Given the description of an element on the screen output the (x, y) to click on. 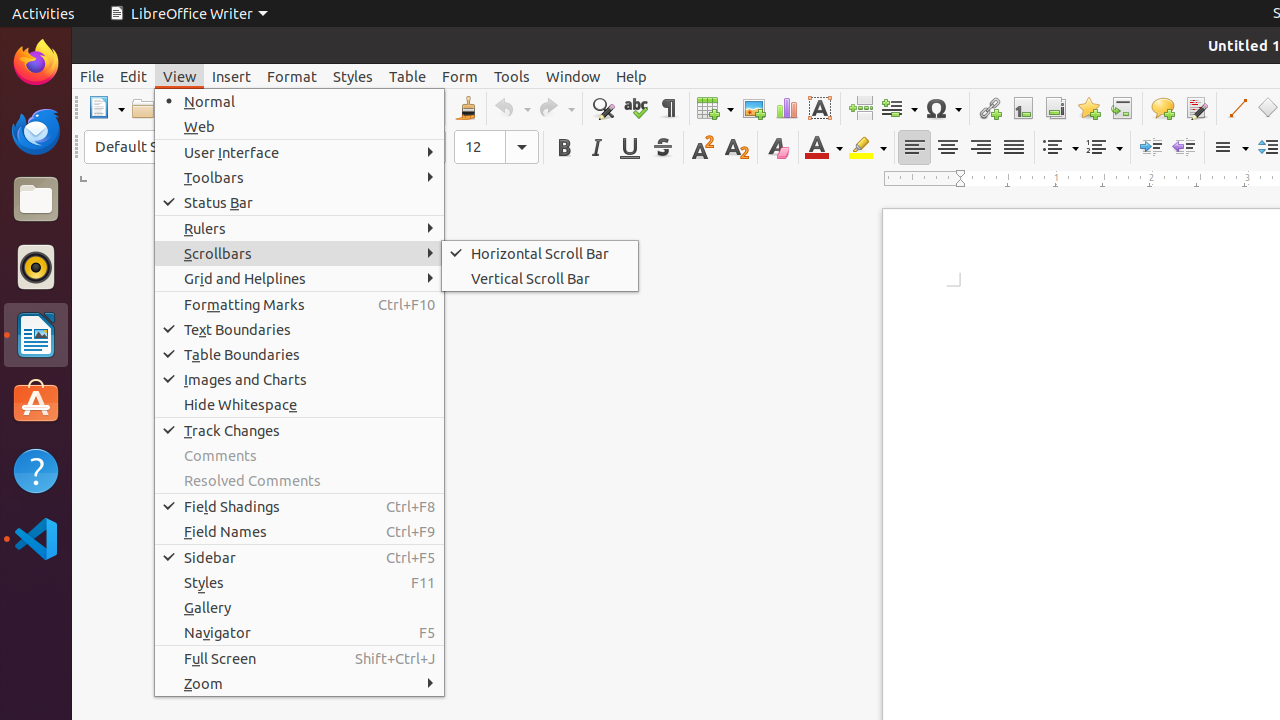
Undo Element type: push-button (512, 108)
Rulers Element type: menu (299, 228)
Hyperlink Element type: toggle-button (989, 108)
Hide Whitespace Element type: check-menu-item (299, 404)
Bullets Element type: push-button (1060, 147)
